Given the description of an element on the screen output the (x, y) to click on. 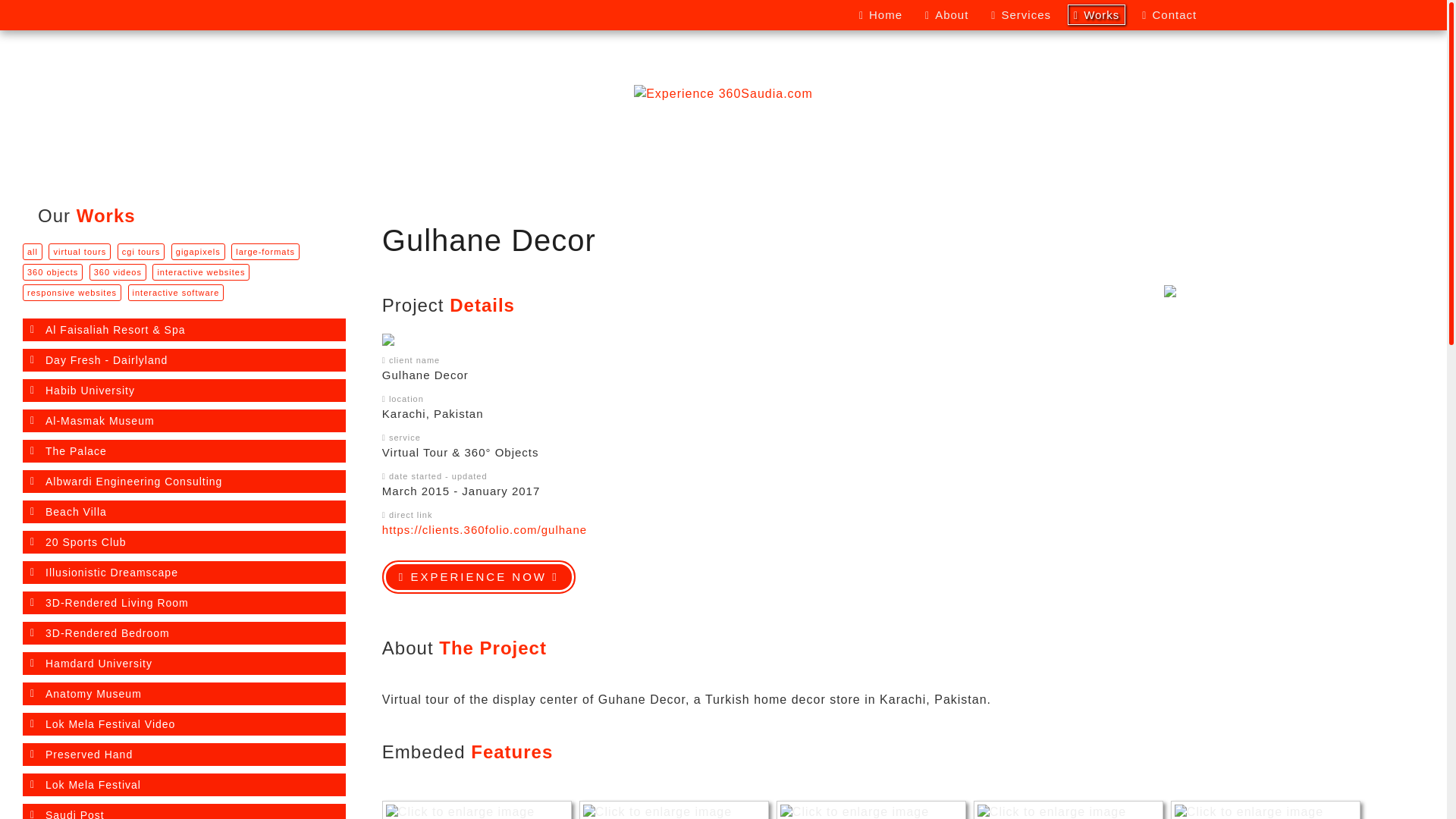
https://clients.360folio.com/gulhane Element type: text (484, 529)
Day Fresh - Dairlyland Element type: text (183, 359)
EXPERIENCE NOW Element type: text (478, 576)
3D-Rendered Bedroom Element type: text (183, 632)
Al-Masmak Museum Element type: text (183, 420)
Works Element type: text (1096, 14)
Home Element type: text (880, 14)
Albwardi Engineering Consulting Element type: text (183, 481)
Lok Mela Festival Element type: text (183, 784)
Illusionistic Dreamscape Element type: text (183, 572)
Preserved Hand Element type: text (183, 754)
Al Faisaliah Resort & Spa Element type: text (183, 329)
Habib University Element type: text (183, 390)
Hamdard University Element type: text (183, 663)
Lok Mela Festival Video Element type: text (183, 723)
3D-Rendered Living Room Element type: text (183, 602)
About Element type: text (946, 14)
20 Sports Club Element type: text (183, 541)
Anatomy Museum Element type: text (183, 693)
Contact Element type: text (1168, 14)
The Palace Element type: text (183, 450)
360Folio Interactive Element type: text (288, 14)
Beach Villa Element type: text (183, 511)
Services Element type: text (1021, 14)
